Given the description of an element on the screen output the (x, y) to click on. 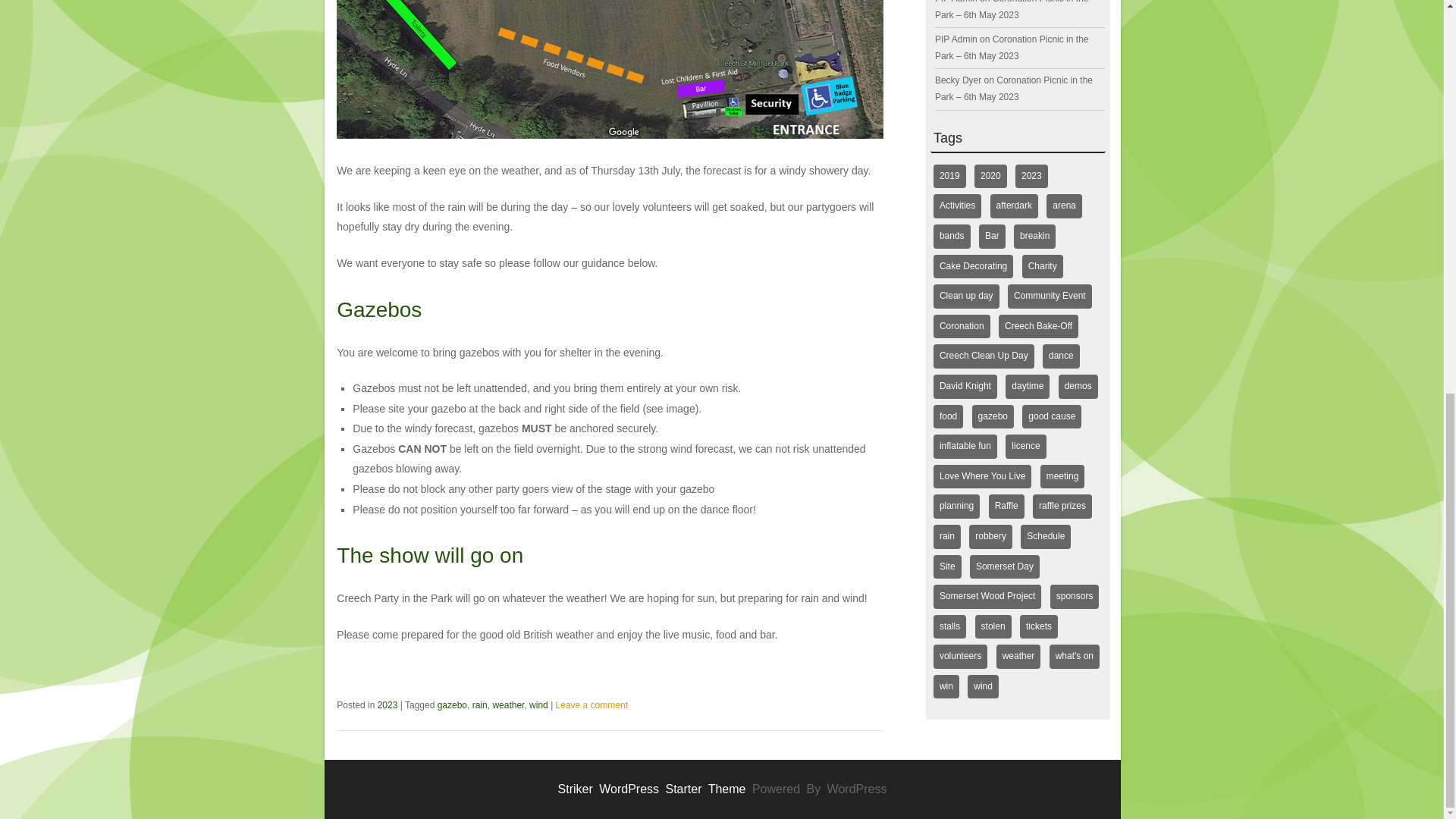
gazebo (452, 705)
weather (508, 705)
2023 (387, 705)
rain (479, 705)
wind (538, 705)
Leave a comment (591, 705)
